Given the description of an element on the screen output the (x, y) to click on. 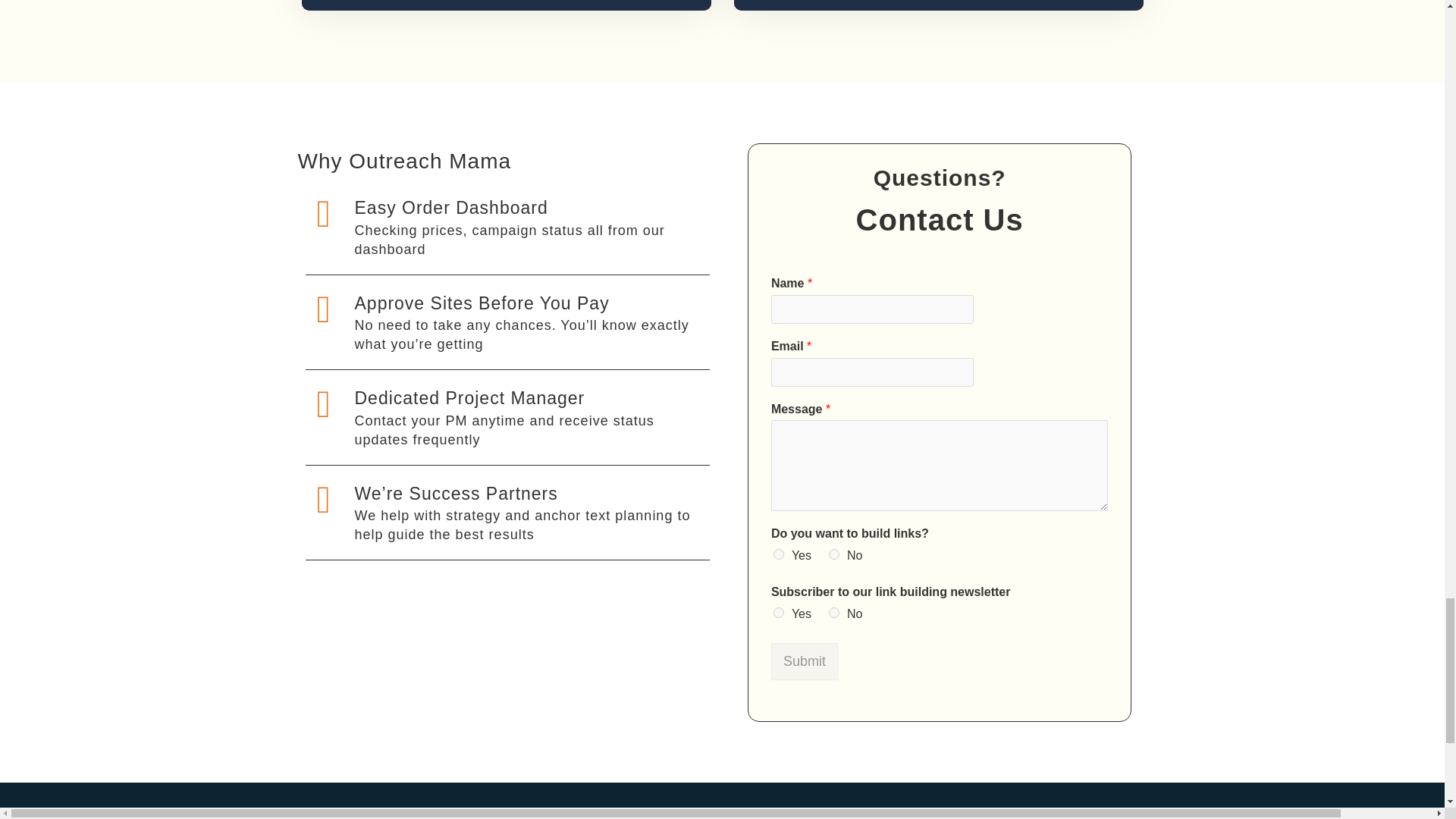
Yes (778, 612)
No (834, 553)
Yes (778, 553)
No (834, 612)
